Given the description of an element on the screen output the (x, y) to click on. 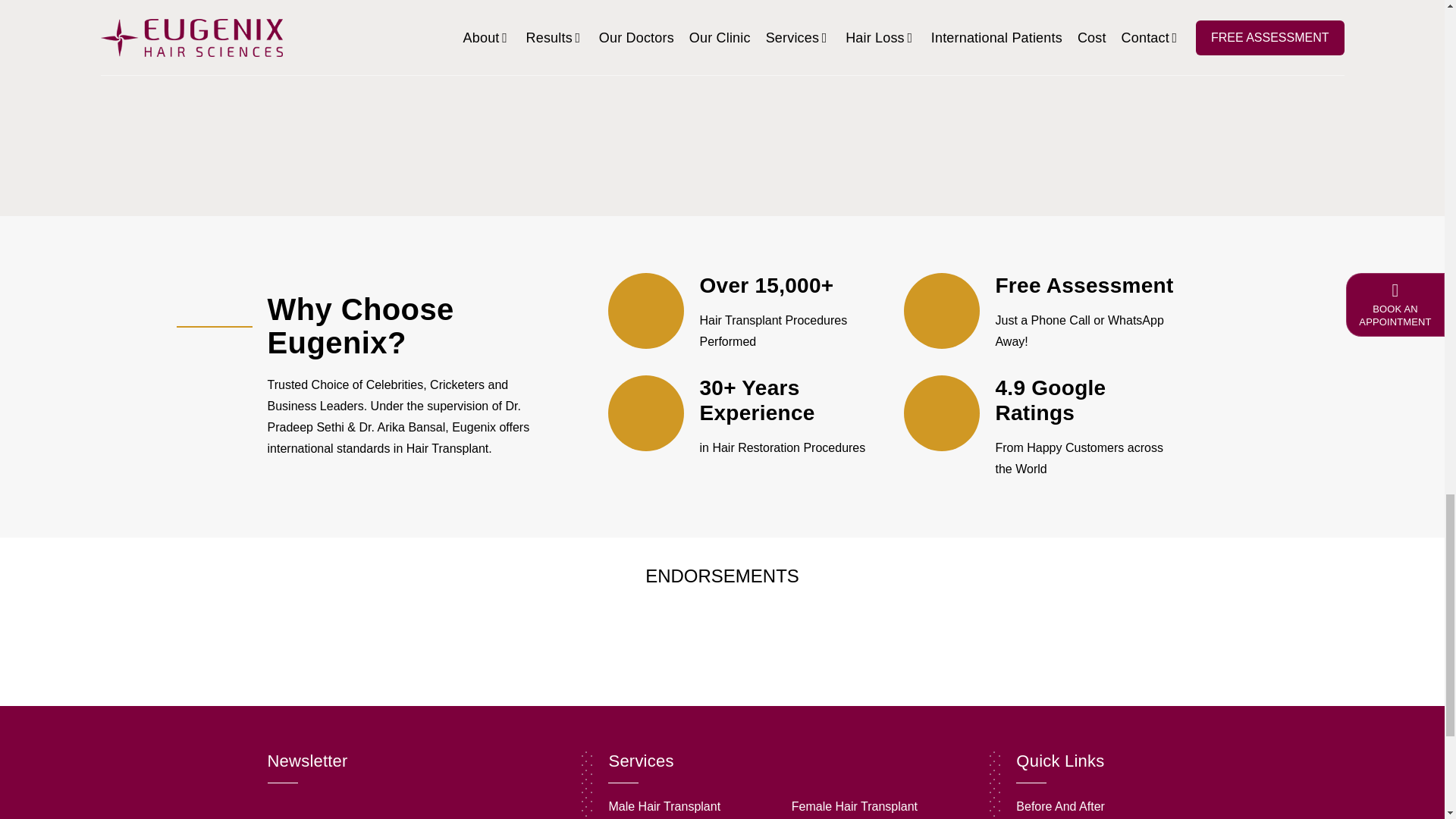
YouTube video player (421, 92)
YouTube video player (722, 92)
YouTube video player (1022, 92)
